Given the description of an element on the screen output the (x, y) to click on. 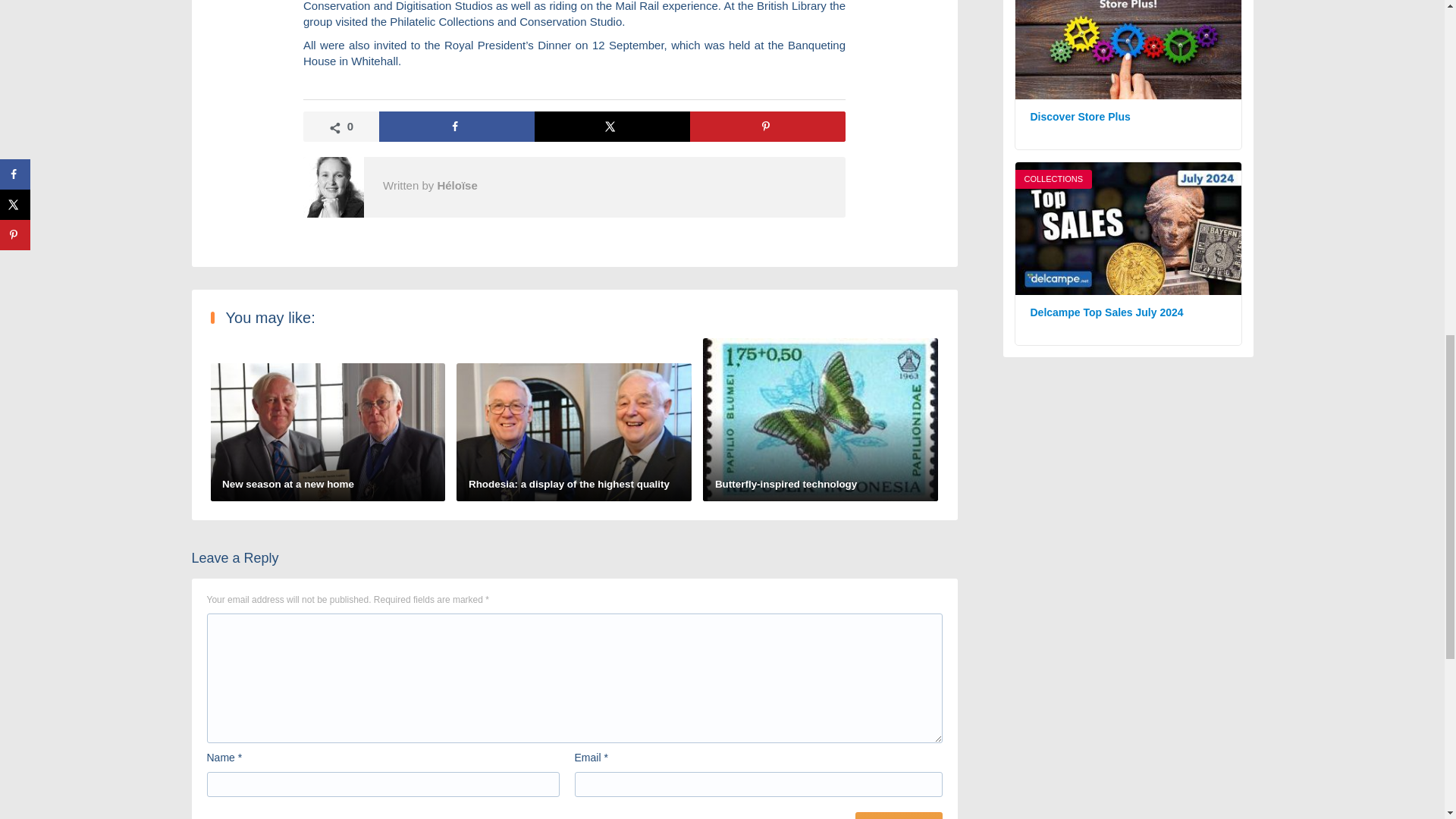
Post Comment (899, 815)
